Given the description of an element on the screen output the (x, y) to click on. 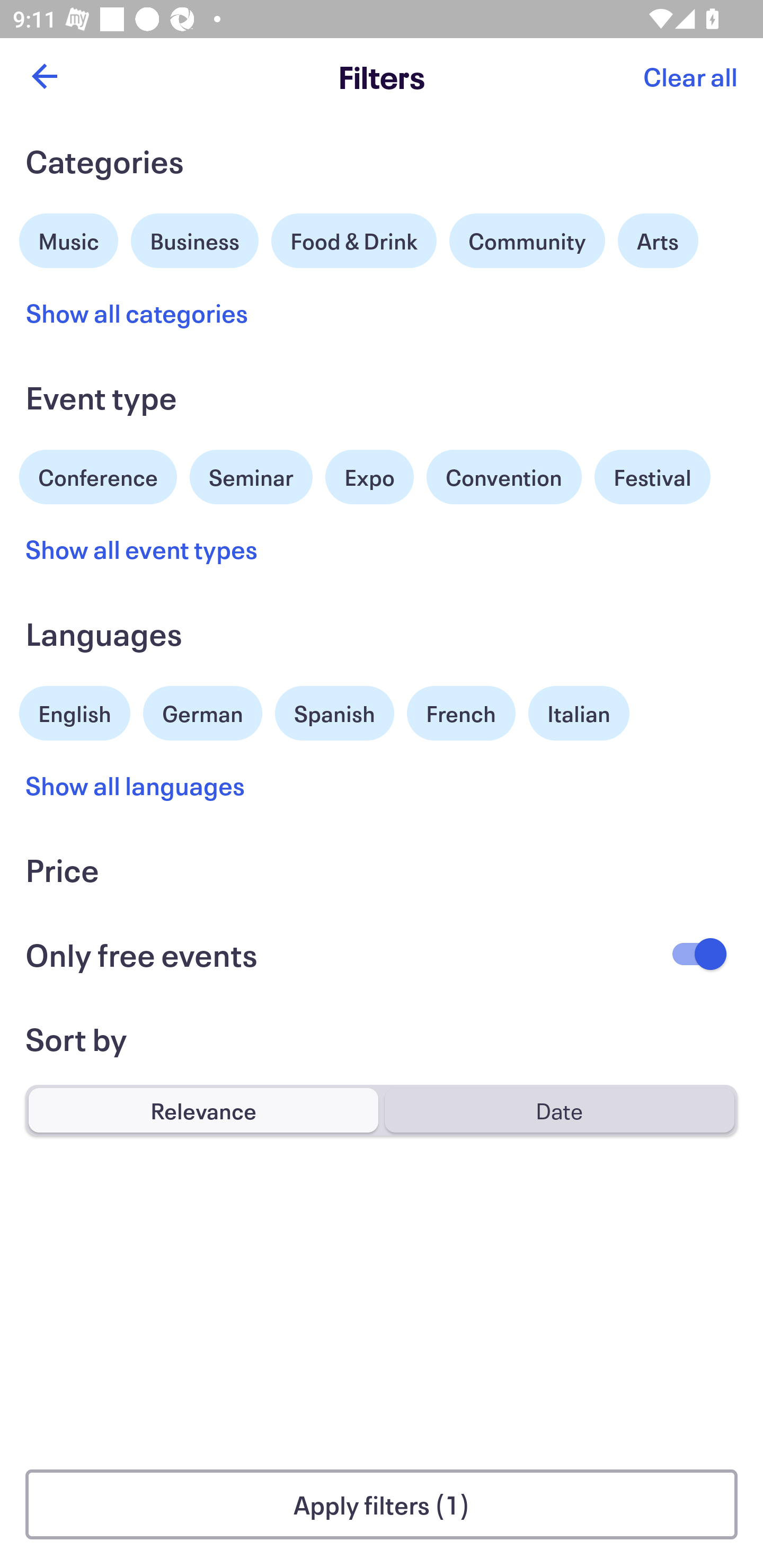
Back button (44, 75)
Clear all (690, 75)
Music (68, 238)
Business (194, 238)
Food & Drink (353, 240)
Community (527, 240)
Arts (658, 240)
Show all categories (136, 312)
Conference (98, 475)
Seminar (250, 477)
Expo (369, 477)
Convention (503, 477)
Festival (652, 477)
Show all event types (141, 548)
English (74, 710)
German (202, 710)
Spanish (334, 713)
French (460, 713)
Italian (578, 713)
Show all languages (135, 784)
Relevance (203, 1109)
Date (559, 1109)
Apply filters (1) (381, 1504)
